Given the description of an element on the screen output the (x, y) to click on. 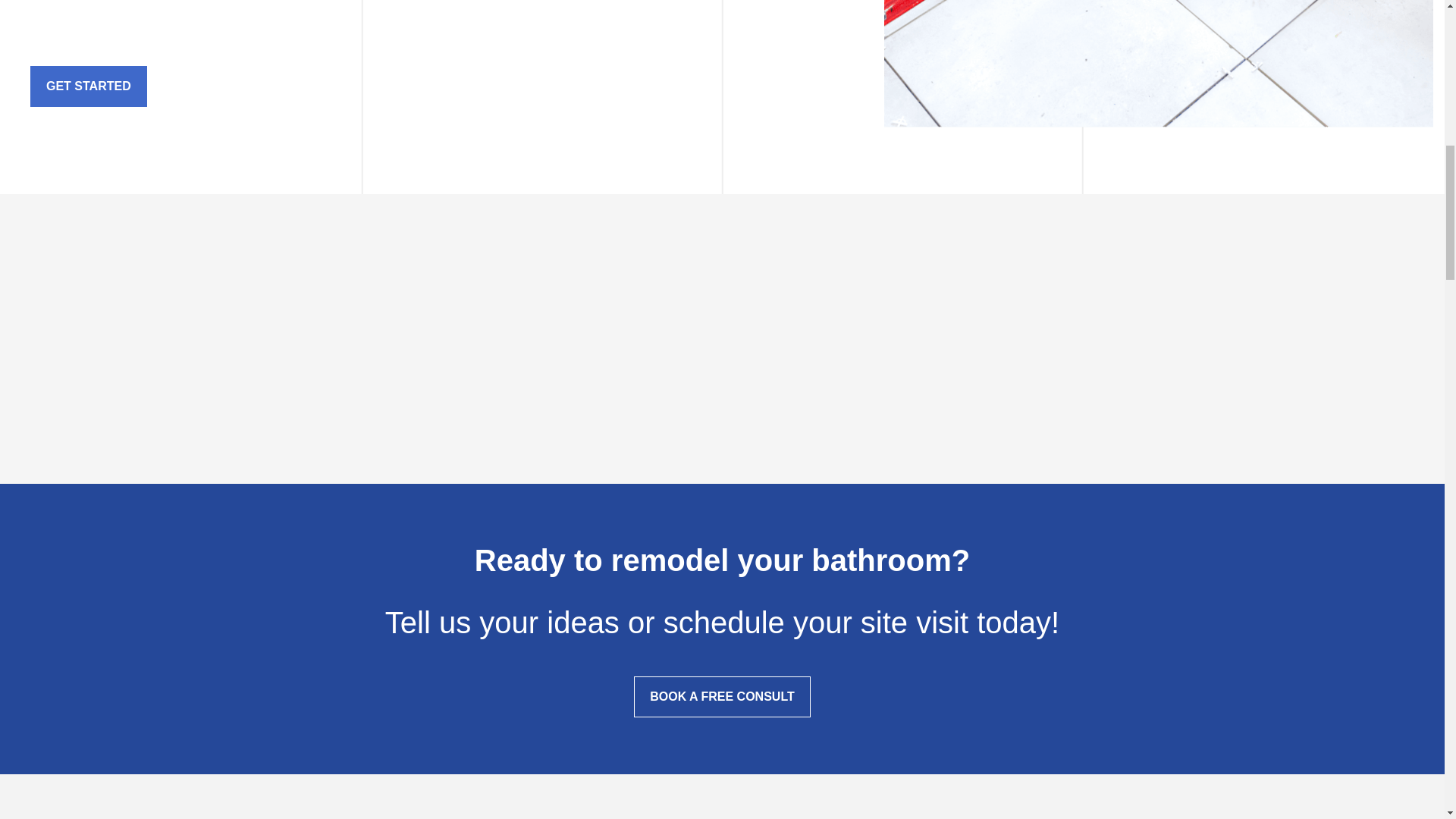
GET STARTED (88, 86)
BOOK A FREE CONSULT (721, 696)
bathroom remodel Santa Fe (1158, 64)
